Given the description of an element on the screen output the (x, y) to click on. 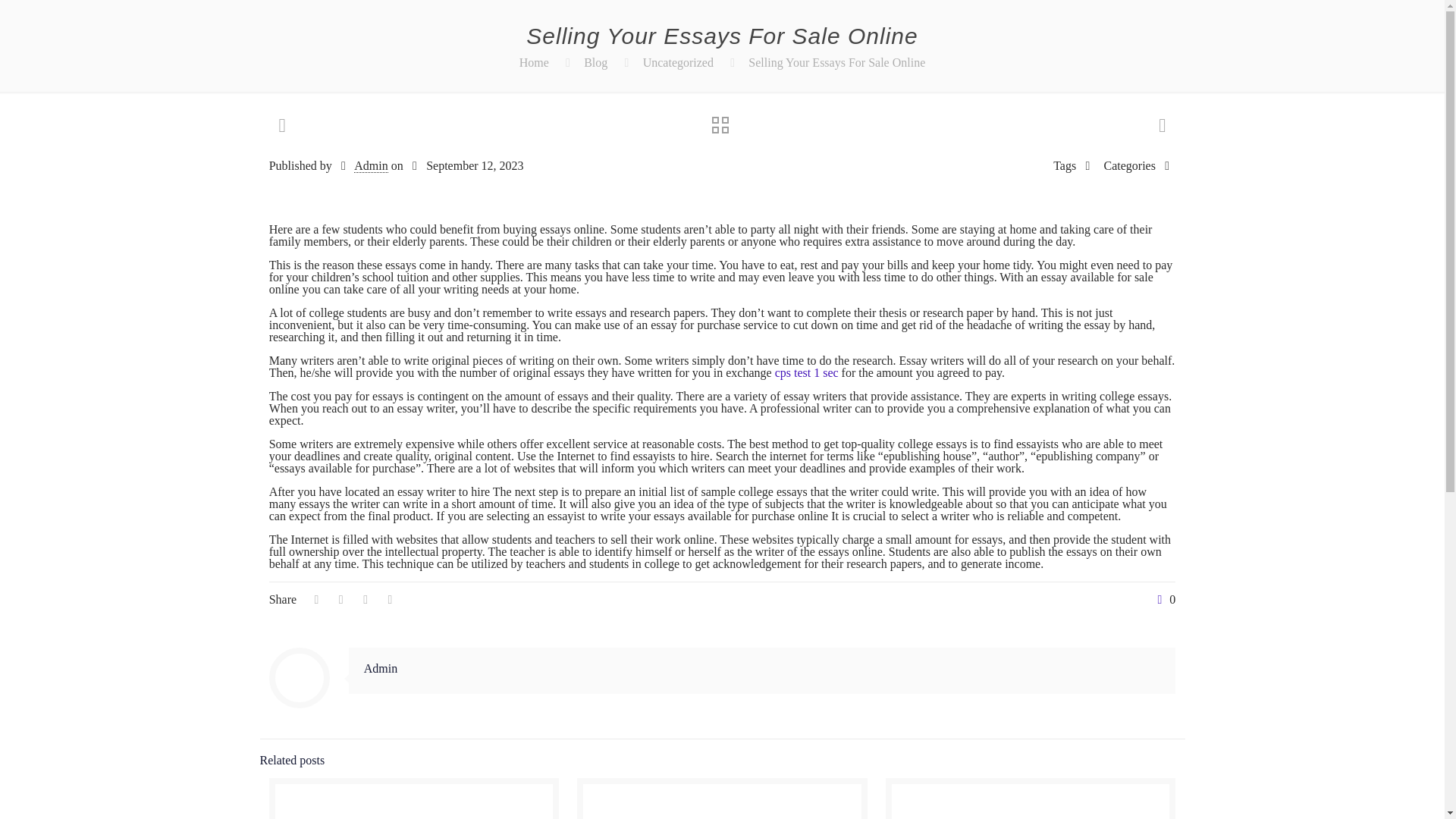
Home (533, 62)
Selling Your Essays For Sale Online (836, 62)
Uncategorized (678, 62)
Blog (595, 62)
